Given the description of an element on the screen output the (x, y) to click on. 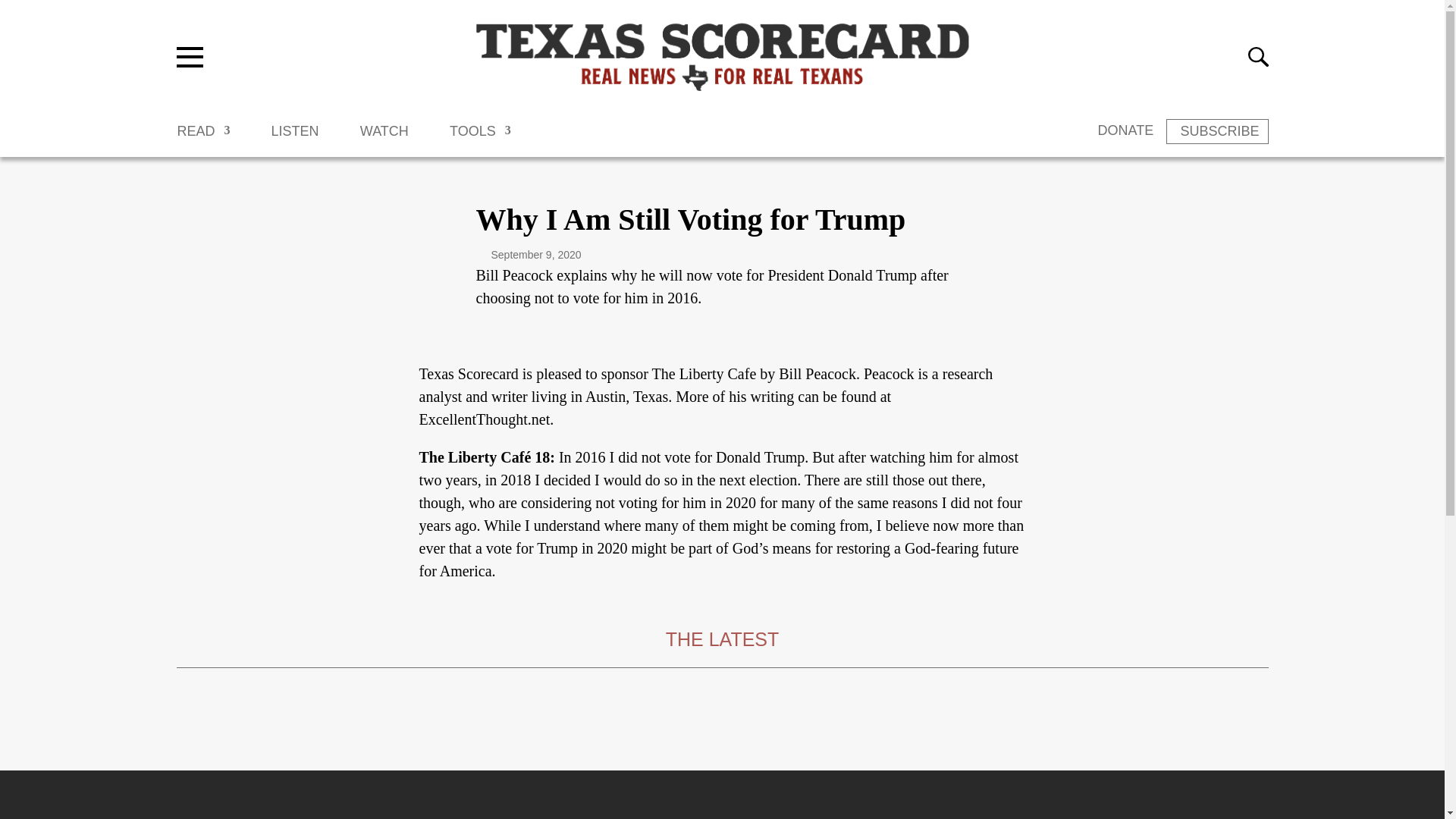
READ (203, 138)
tx-logo (722, 56)
Icon - Search (1257, 56)
LISTEN (294, 138)
TOOLS (480, 138)
WATCH (384, 138)
